Given the description of an element on the screen output the (x, y) to click on. 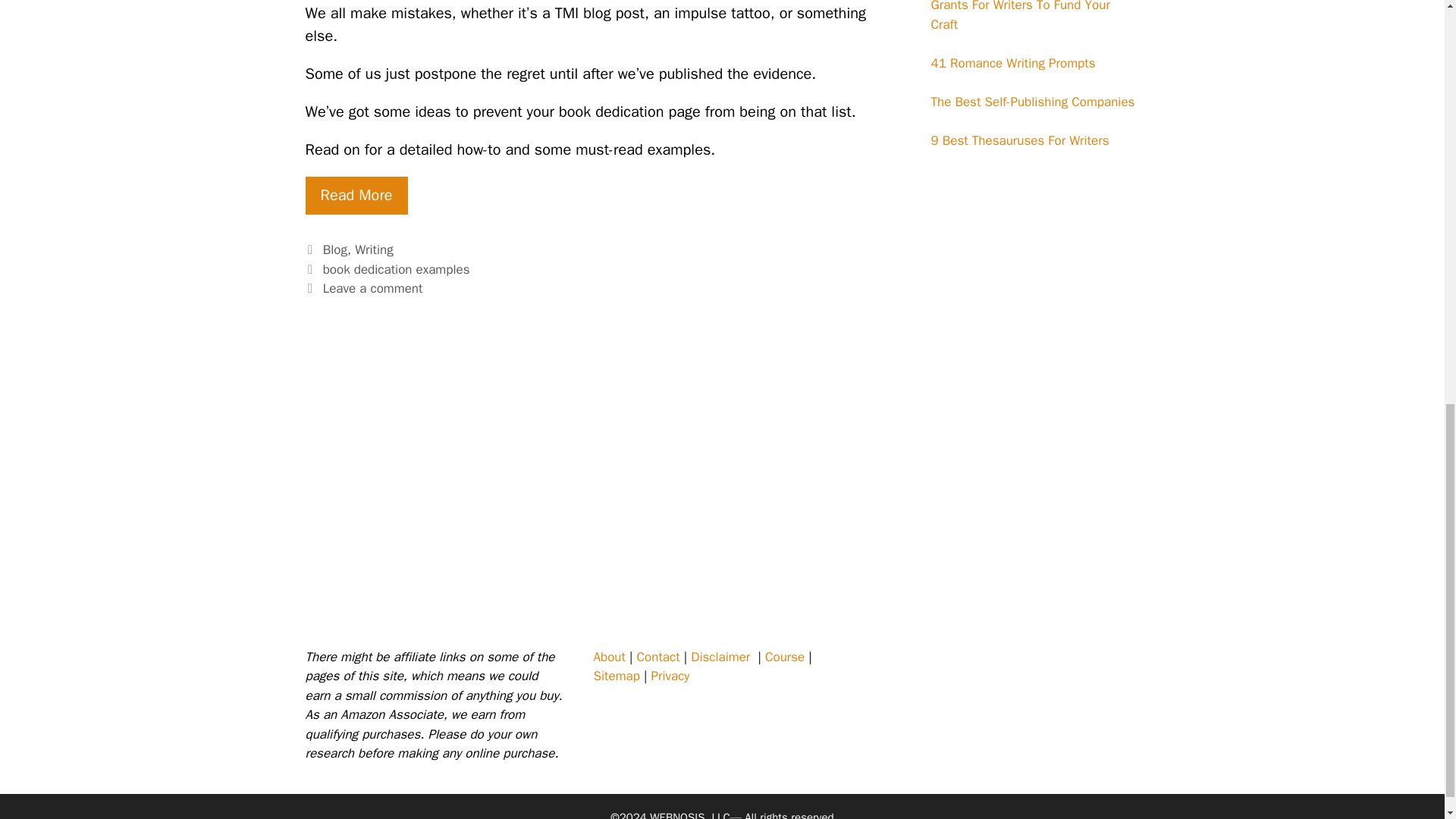
41 Romance Writing Prompts (1013, 63)
Grants For Writers To Fund Your Craft (1020, 16)
9 Best Thesauruses For Writers (1020, 140)
Blog (335, 249)
Privacy (670, 675)
Read More (355, 195)
Course (785, 657)
Disclaimer (719, 657)
Sitemap (615, 675)
Leave a comment (373, 288)
